Given the description of an element on the screen output the (x, y) to click on. 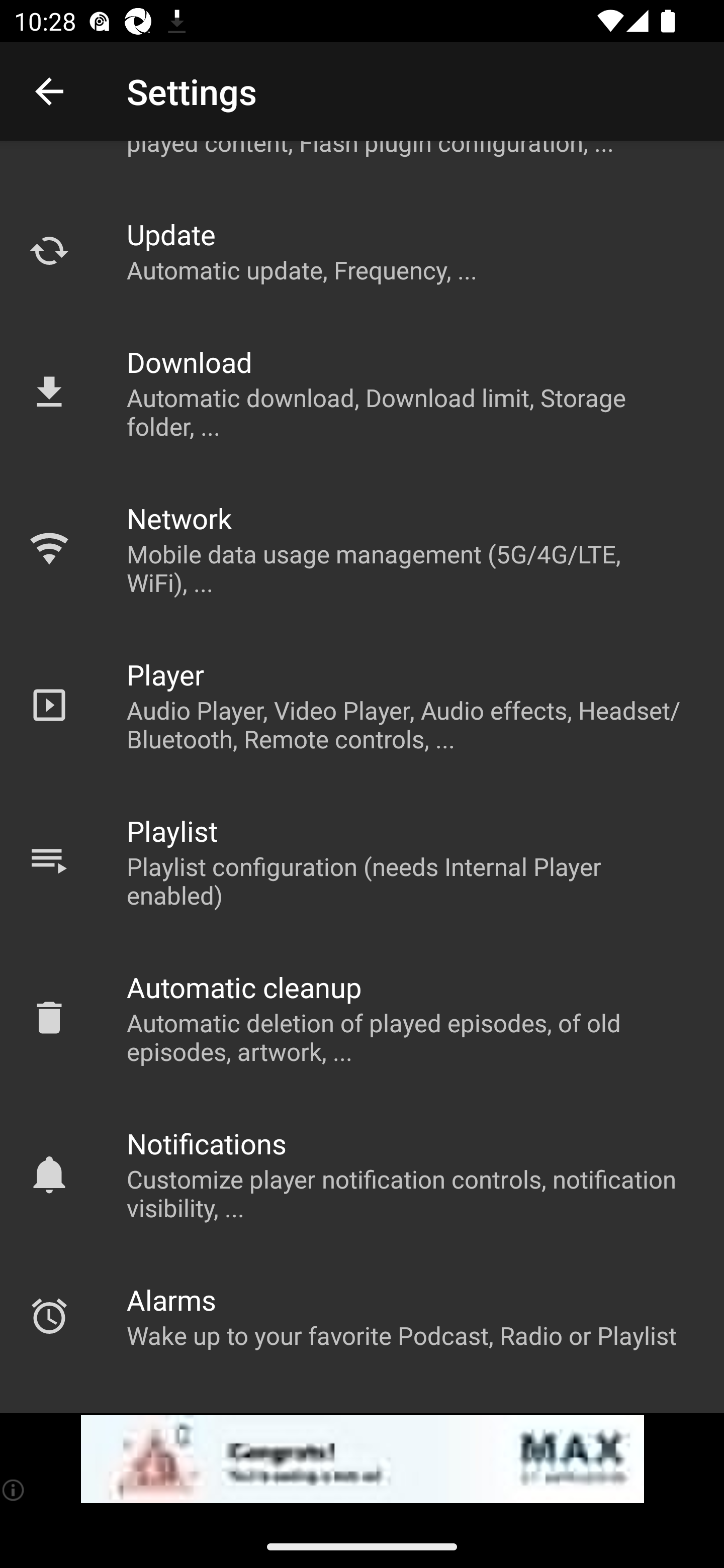
Navigate up (49, 91)
Update Automatic update, Frequency, ... (362, 250)
app-monetization (362, 1459)
(i) (14, 1489)
